Given the description of an element on the screen output the (x, y) to click on. 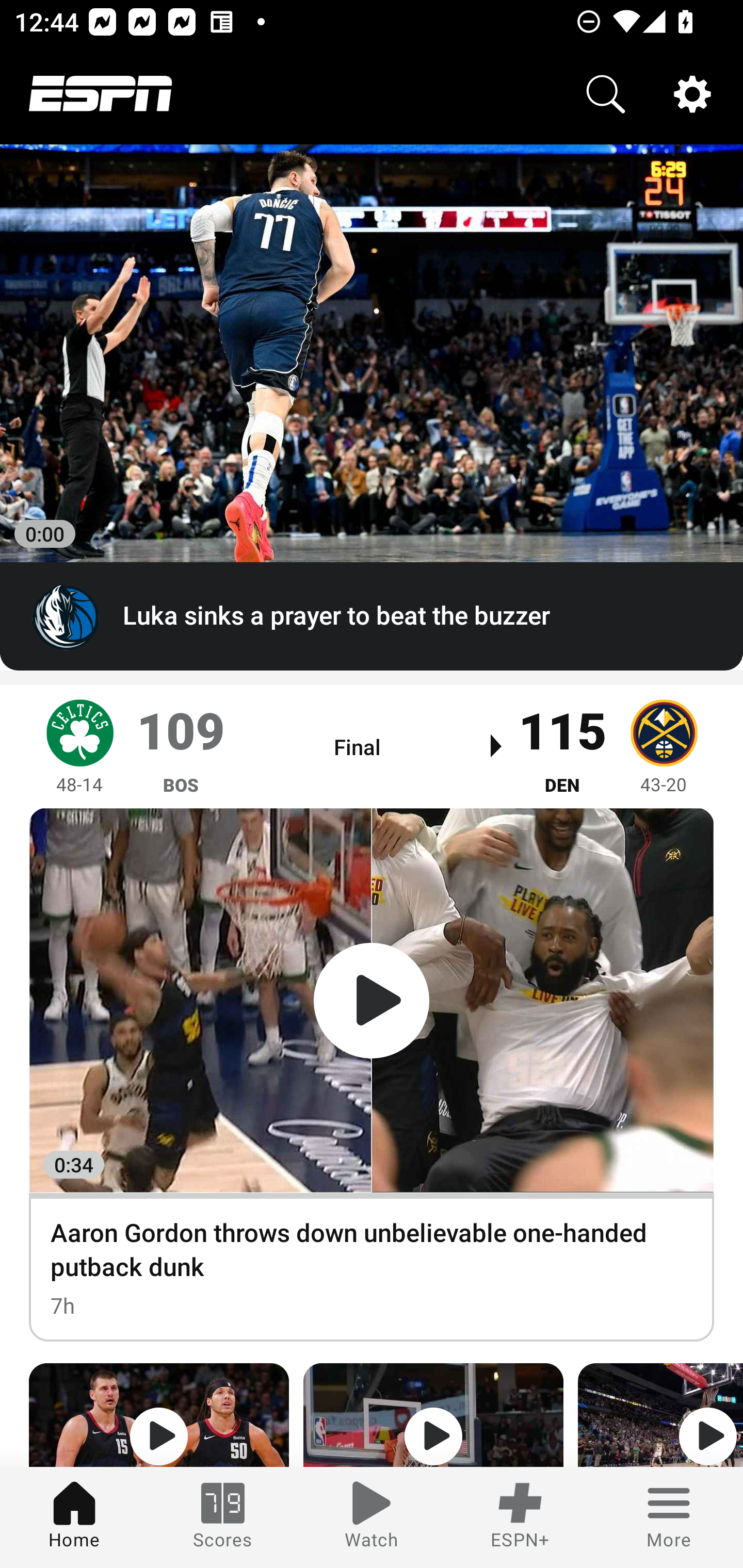
Search (605, 93)
Settings (692, 93)
Luka sinks a prayer to beat the buzzer (371, 616)
 (158, 1414)
 (433, 1414)
Scores (222, 1517)
Watch (371, 1517)
ESPN+ (519, 1517)
More (668, 1517)
